Given the description of an element on the screen output the (x, y) to click on. 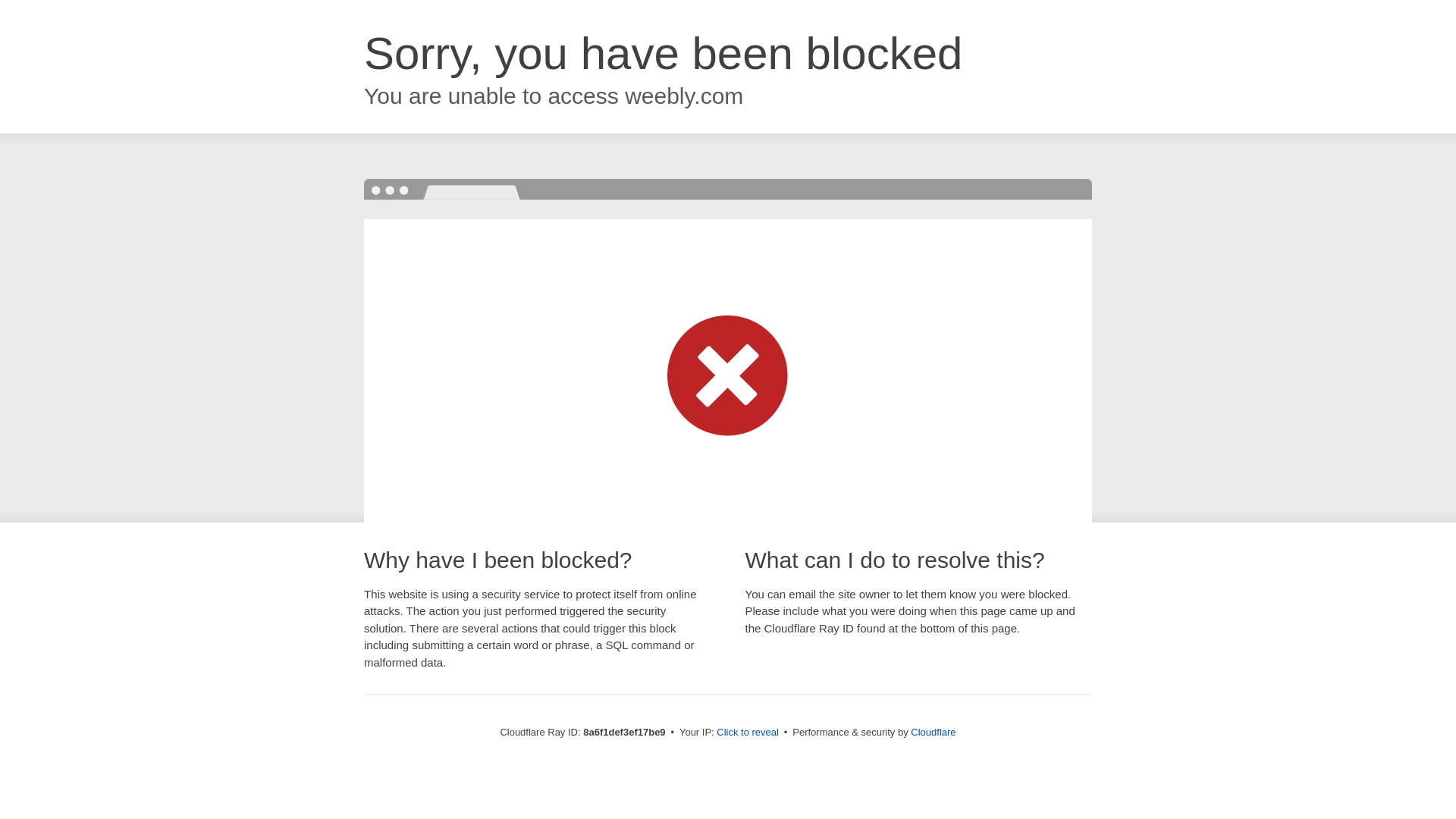
Cloudflare (933, 731)
Click to reveal (747, 732)
